Given the description of an element on the screen output the (x, y) to click on. 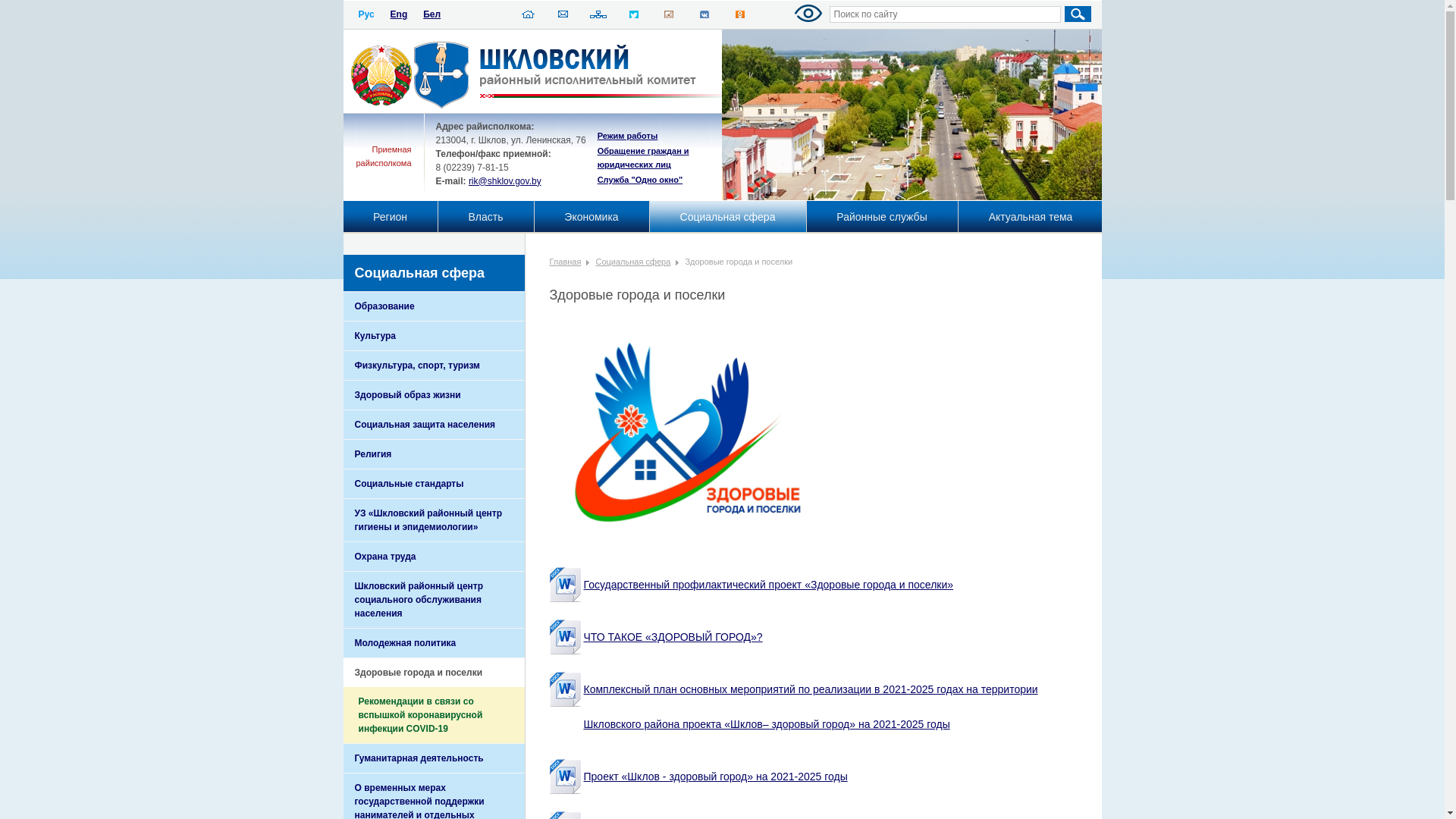
VK  Element type: hover (704, 17)
Eng Element type: text (398, 14)
https://ok.ru Element type: hover (739, 17)
instagram Element type: hover (668, 17)
twitter Element type: hover (633, 17)
rik@shklov.gov.by Element type: text (504, 180)
